Given the description of an element on the screen output the (x, y) to click on. 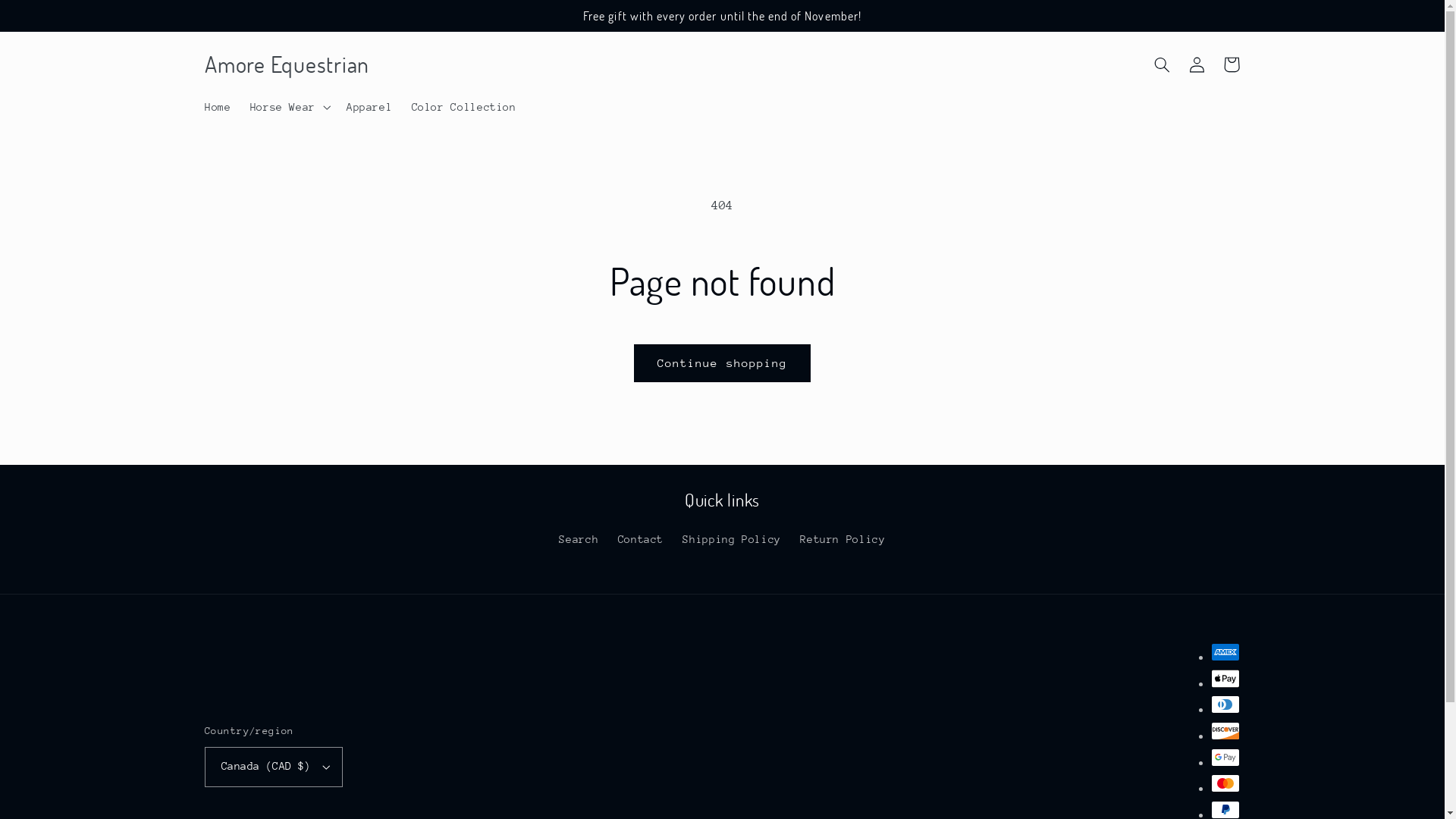
Return Policy Element type: text (842, 539)
Shipping Policy Element type: text (731, 539)
Apparel Element type: text (368, 107)
Amore Equestrian Element type: text (286, 64)
Cart Element type: text (1231, 64)
Canada (CAD $) Element type: text (273, 766)
Search Element type: text (578, 541)
Contact Element type: text (640, 539)
Log in Element type: text (1196, 64)
Home Element type: text (217, 107)
Continue shopping Element type: text (722, 362)
Color Collection Element type: text (463, 107)
